Given the description of an element on the screen output the (x, y) to click on. 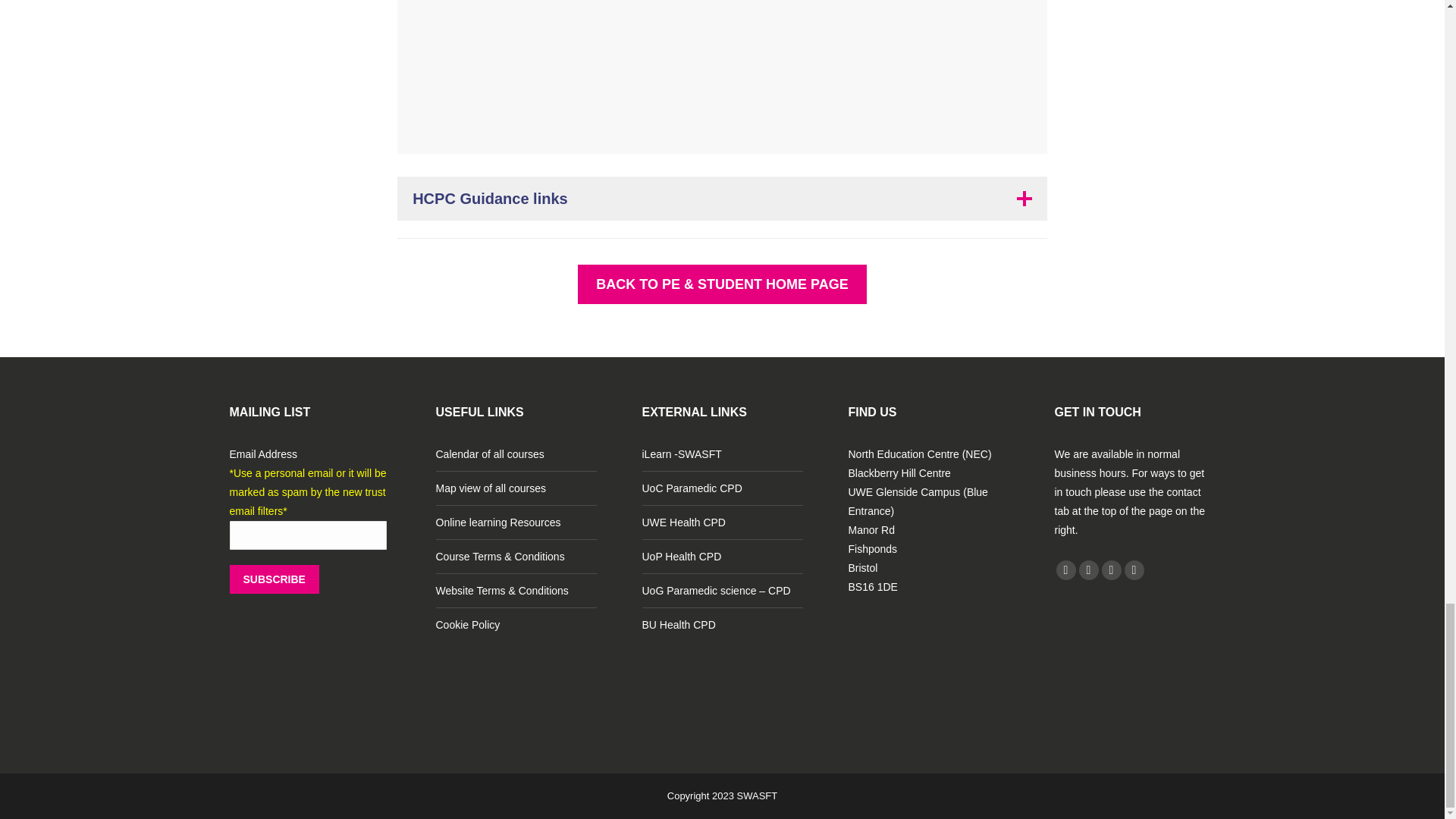
Twitter (1087, 569)
Rss (1110, 569)
Instagram (1133, 569)
Subscribe (273, 579)
Facebook (1065, 569)
